Given the description of an element on the screen output the (x, y) to click on. 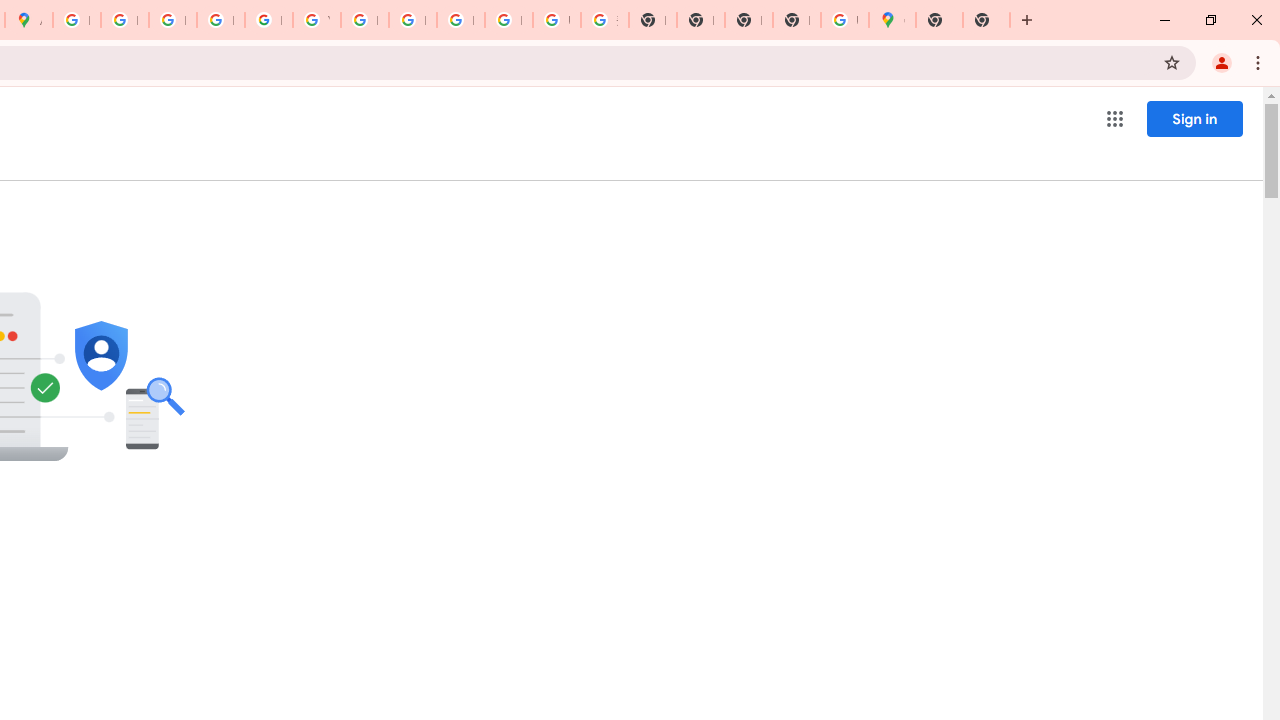
YouTube (316, 20)
Google Maps (892, 20)
Policy Accountability and Transparency - Transparency Center (76, 20)
Privacy Help Center - Policies Help (172, 20)
New Tab (939, 20)
Privacy Help Center - Policies Help (124, 20)
Use Google Maps in Space - Google Maps Help (844, 20)
